Given the description of an element on the screen output the (x, y) to click on. 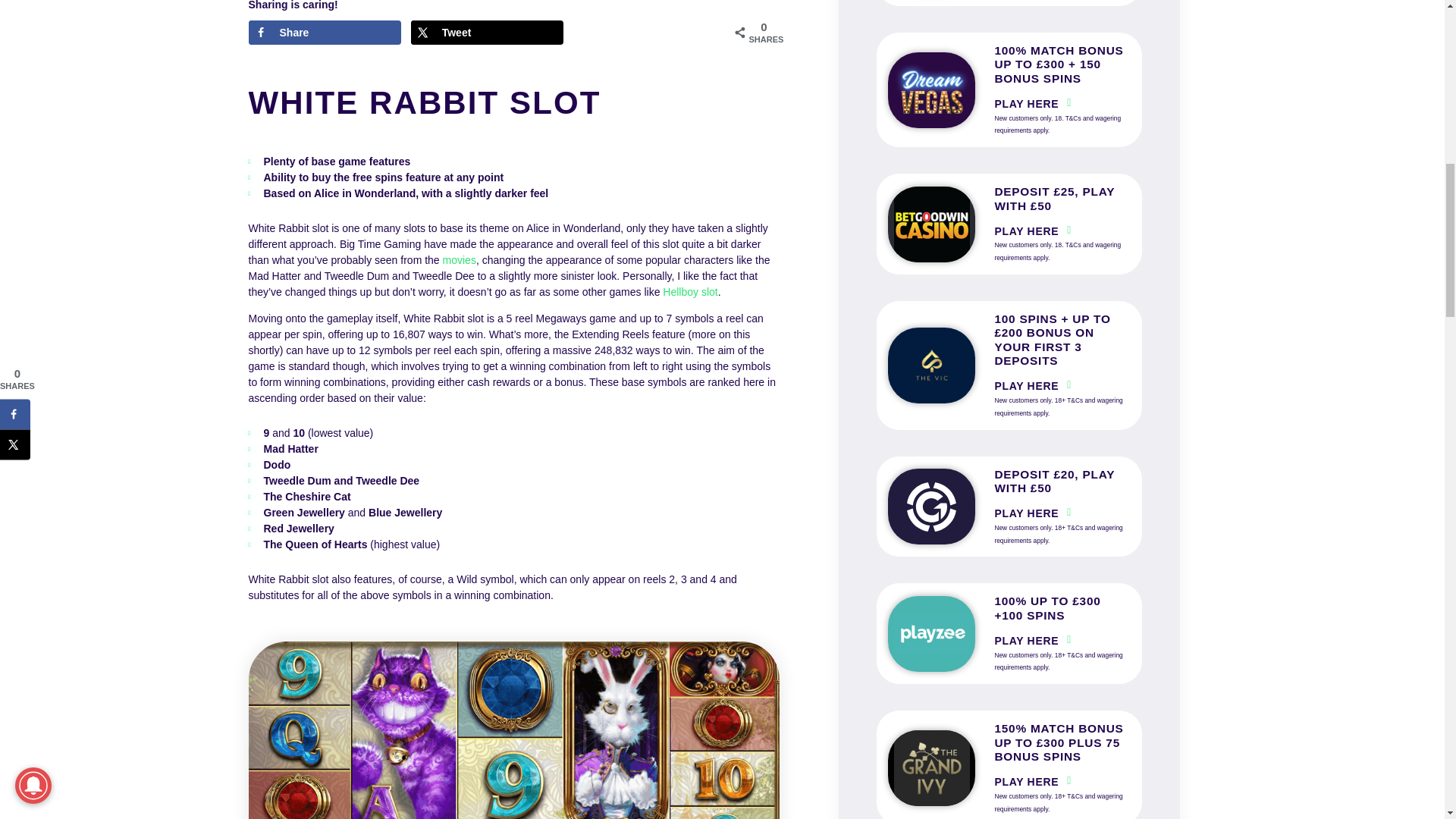
movies (459, 259)
Tweet (487, 32)
Share on Facebook (324, 32)
Share on X (487, 32)
Hellboy slot (689, 291)
Share (324, 32)
